Given the description of an element on the screen output the (x, y) to click on. 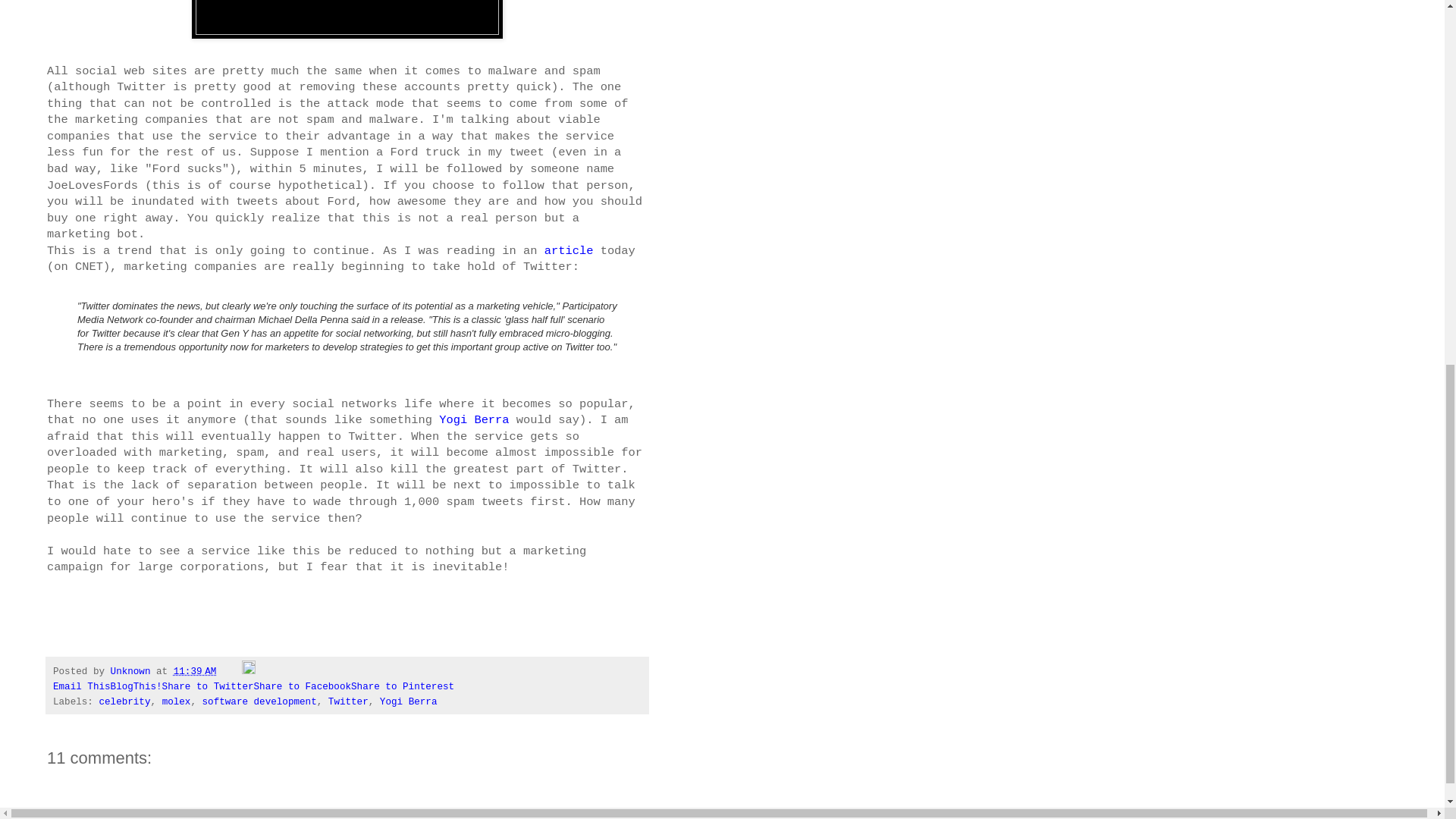
Share to Pinterest (402, 686)
Email This (81, 686)
Email Post (231, 671)
Share to Twitter (207, 686)
BlogThis! (135, 686)
Share to Facebook (301, 686)
software development (259, 701)
BlogThis! (135, 686)
Share to Pinterest (402, 686)
